Given the description of an element on the screen output the (x, y) to click on. 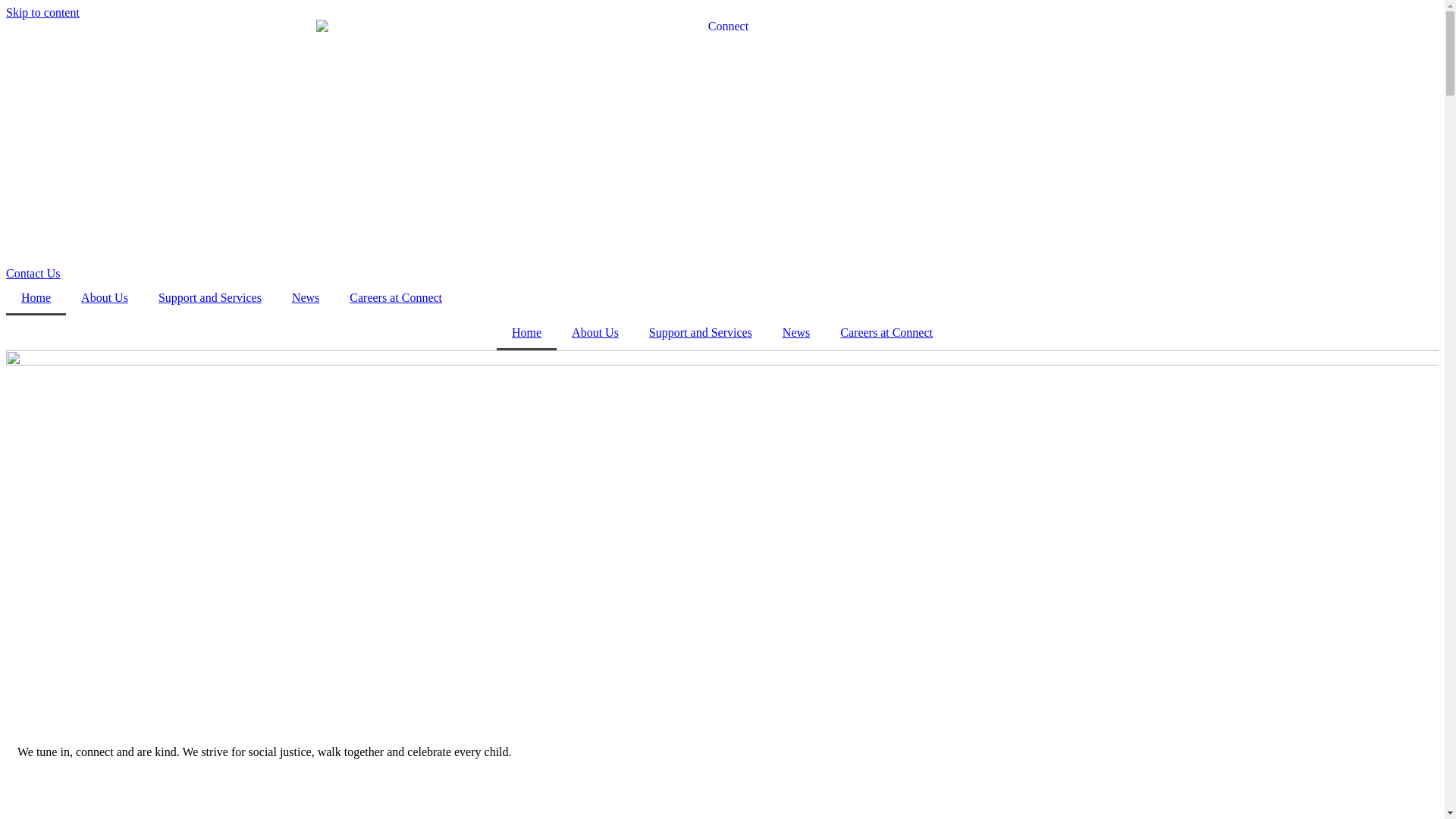
Home Element type: text (526, 332)
Support and Services Element type: text (700, 332)
Contact Us Element type: text (33, 272)
Careers at Connect Element type: text (395, 297)
Skip to content Element type: text (42, 12)
About Us Element type: text (104, 297)
Support and Services Element type: text (209, 297)
Careers at Connect Element type: text (886, 332)
About Us Element type: text (594, 332)
News Element type: text (305, 297)
Home Element type: text (35, 297)
News Element type: text (796, 332)
